Given the description of an element on the screen output the (x, y) to click on. 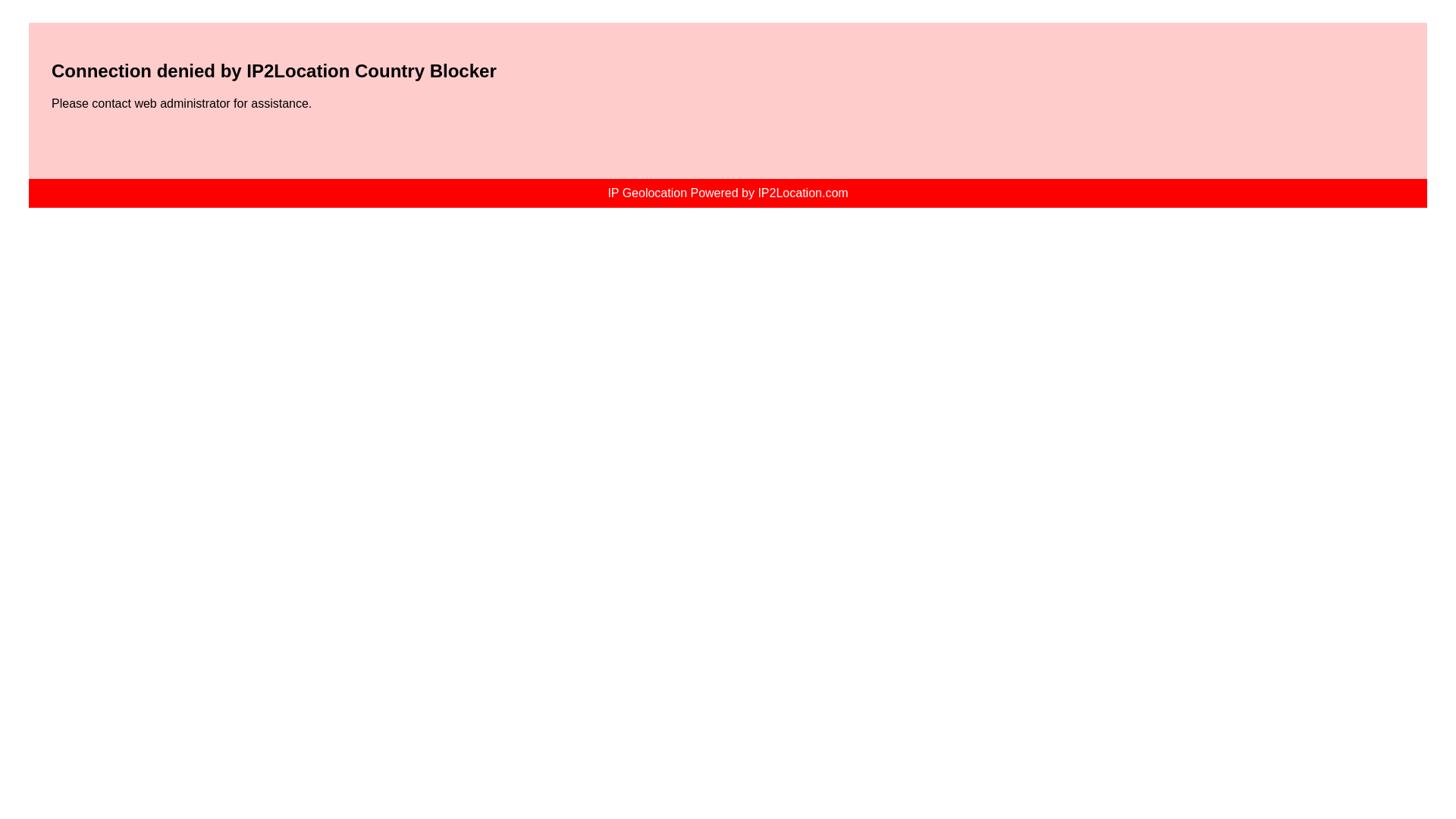
IP Geolocation Powered by IP2Location.com Element type: text (727, 192)
